Given the description of an element on the screen output the (x, y) to click on. 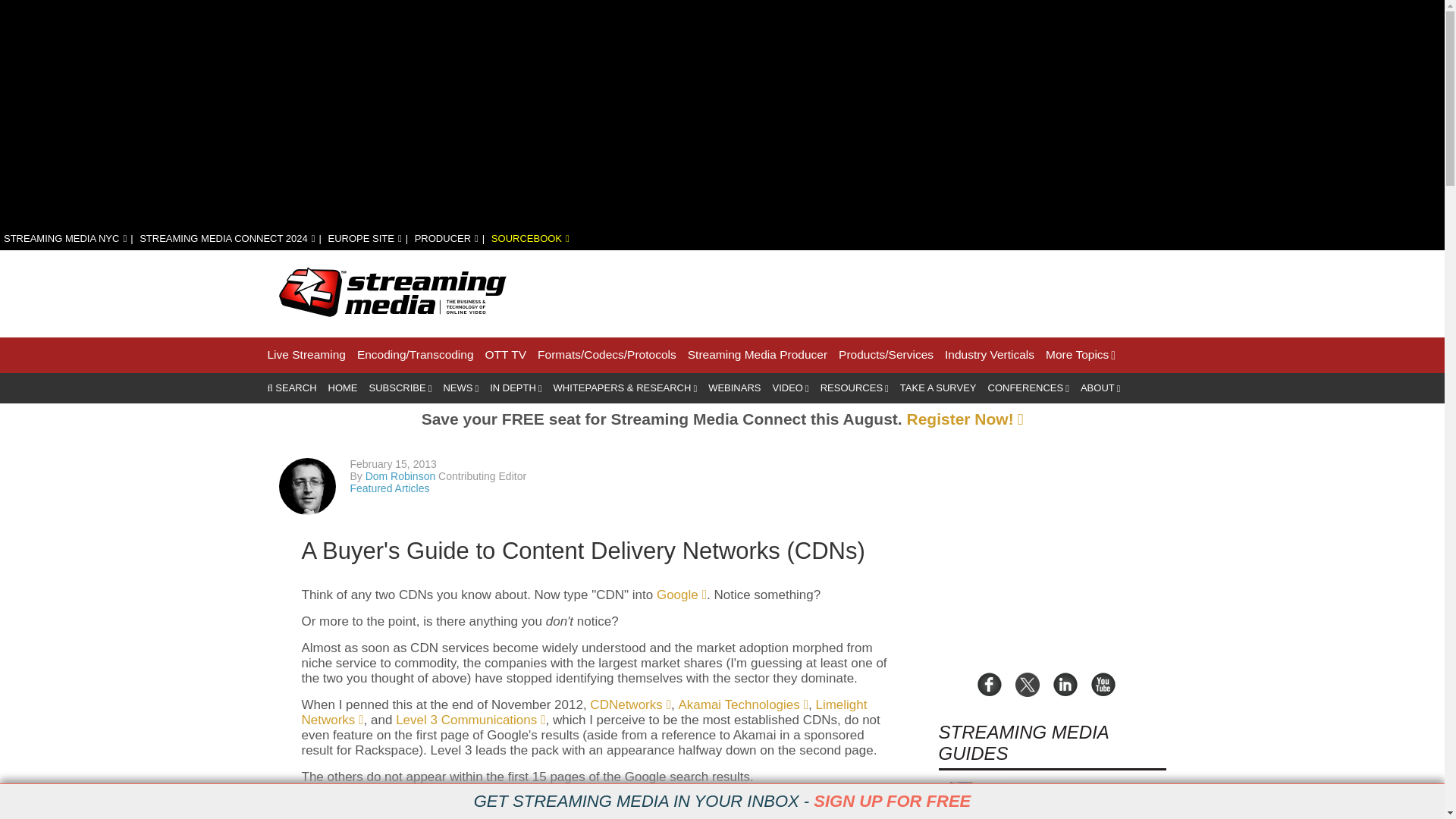
SOURCEBOOK (530, 238)
SUBSCRIBE (400, 388)
NEWS (460, 388)
Industry Verticals (988, 355)
STREAMING MEDIA CONNECT 2024 (226, 238)
HOME (343, 387)
OTT TV (505, 355)
GET STREAMING MEDIA IN YOUR INBOX - SIGN UP FOR FREE (722, 801)
OTT TV (505, 355)
Streaming Media Producer (757, 355)
Industry Verticals (988, 355)
EUROPE SITE (364, 238)
Live Streaming (305, 355)
3rd party ad content (890, 291)
